Given the description of an element on the screen output the (x, y) to click on. 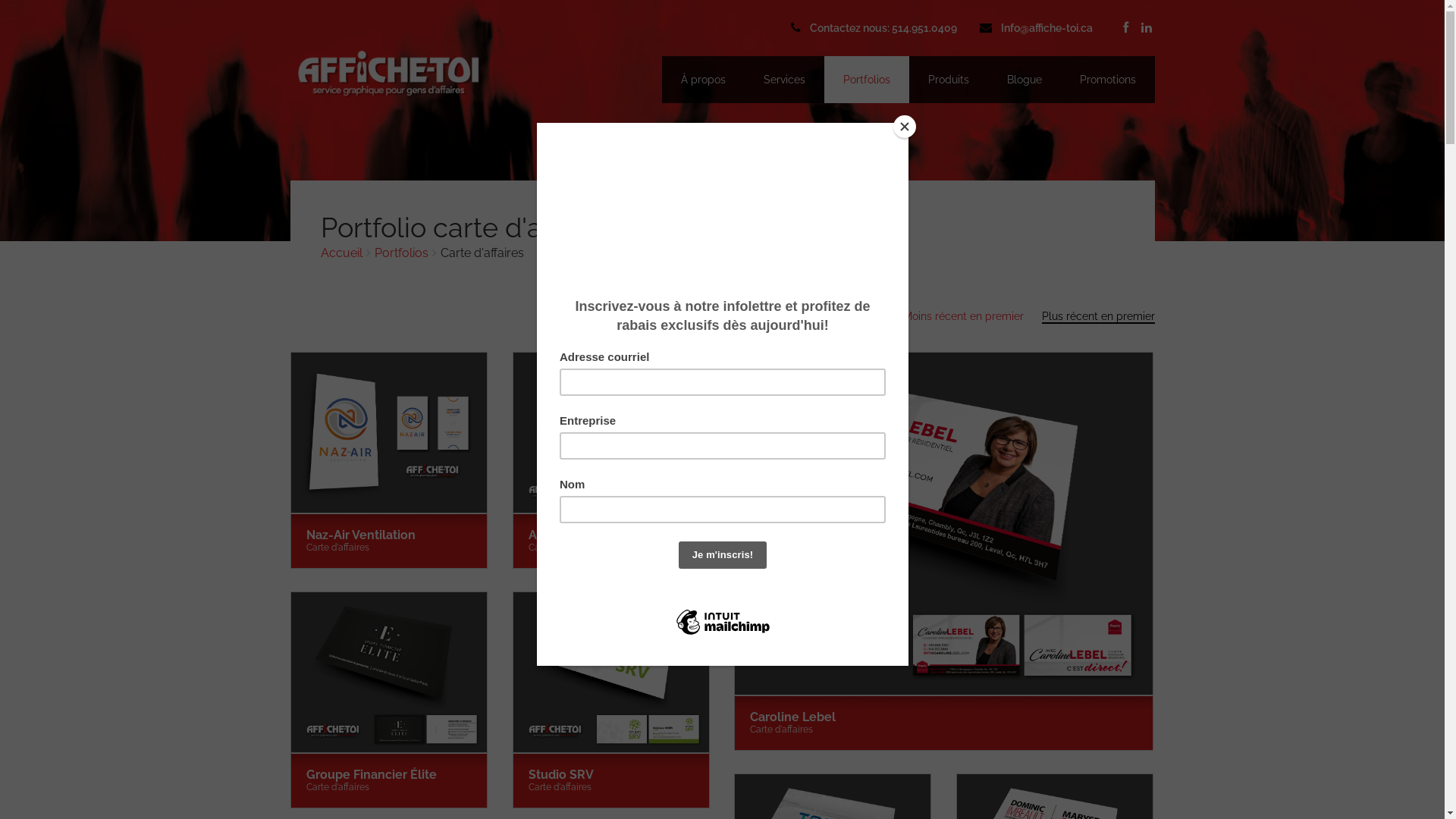
Portfolios Element type: text (865, 79)
Services Element type: text (784, 79)
Facebook Element type: hover (1123, 27)
Accueil Element type: text (340, 252)
Affiche-toi - Service graphique pour gens d'affaires Element type: hover (389, 74)
Portfolios Element type: text (401, 252)
Linkedin Element type: hover (1143, 27)
Blogue Element type: text (1023, 79)
  Element type: text (1143, 27)
  Element type: text (1123, 27)
Promotions Element type: text (1107, 79)
Produits Element type: text (947, 79)
Info@affiche-toi.ca Element type: text (1046, 27)
